Given the description of an element on the screen output the (x, y) to click on. 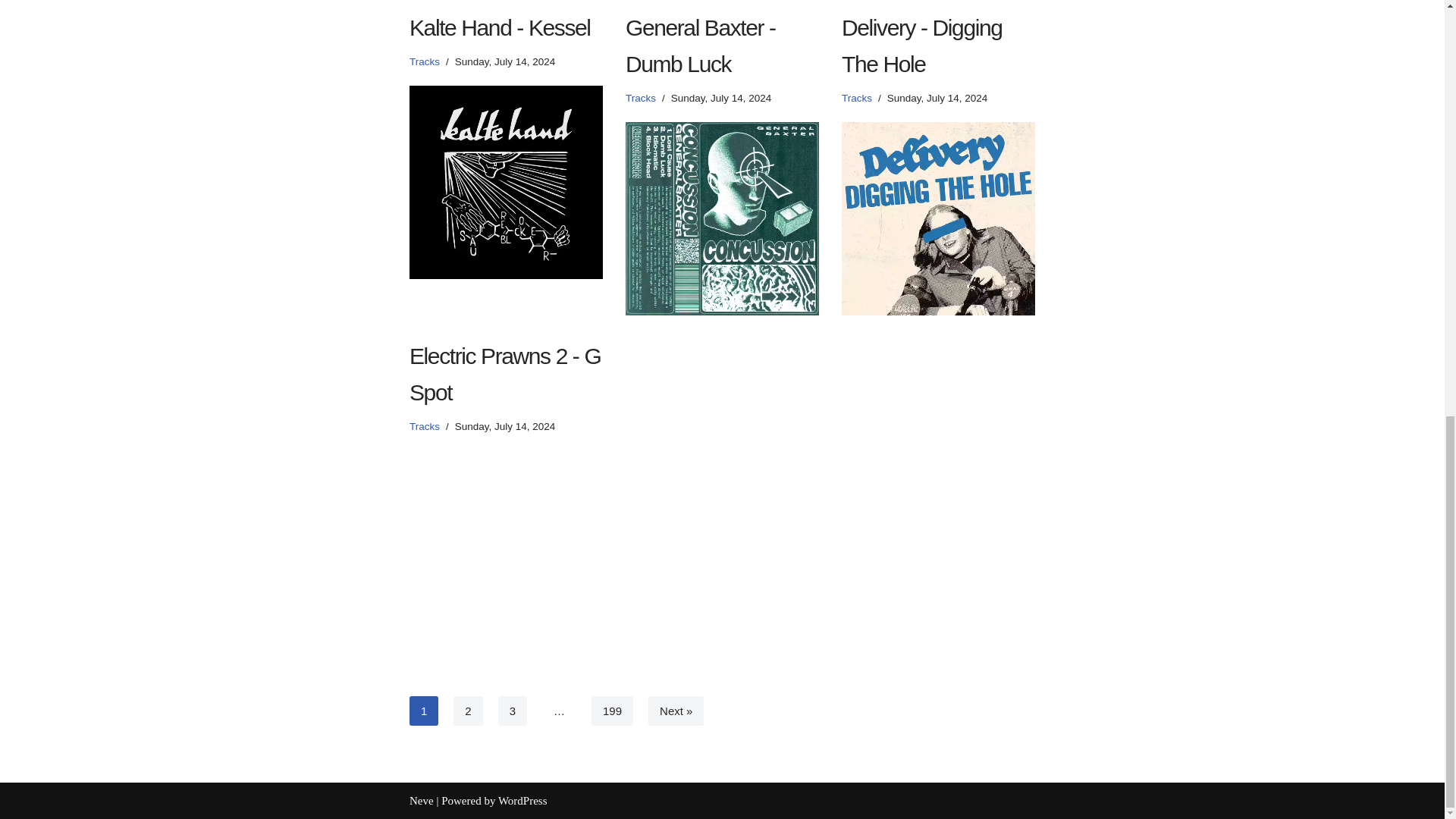
General Baxter - Dumb Luck (722, 218)
Kalte Hand - Kessel (505, 182)
Delivery - Digging The Hole (938, 218)
Electric Prawns 2 - G Spot (505, 545)
